Given the description of an element on the screen output the (x, y) to click on. 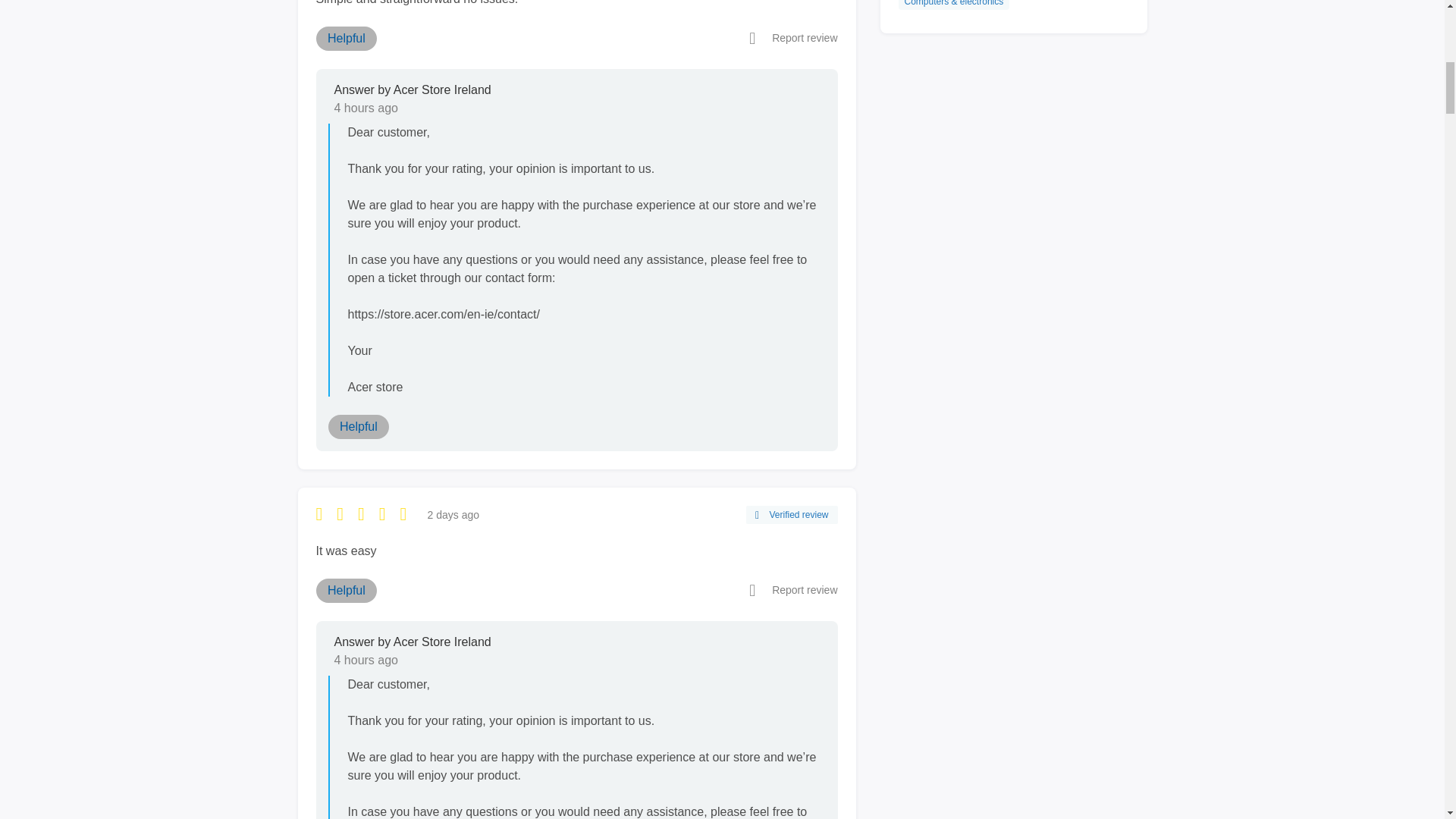
Helpful (346, 590)
Helpful (357, 426)
Helpful (346, 38)
